Given the description of an element on the screen output the (x, y) to click on. 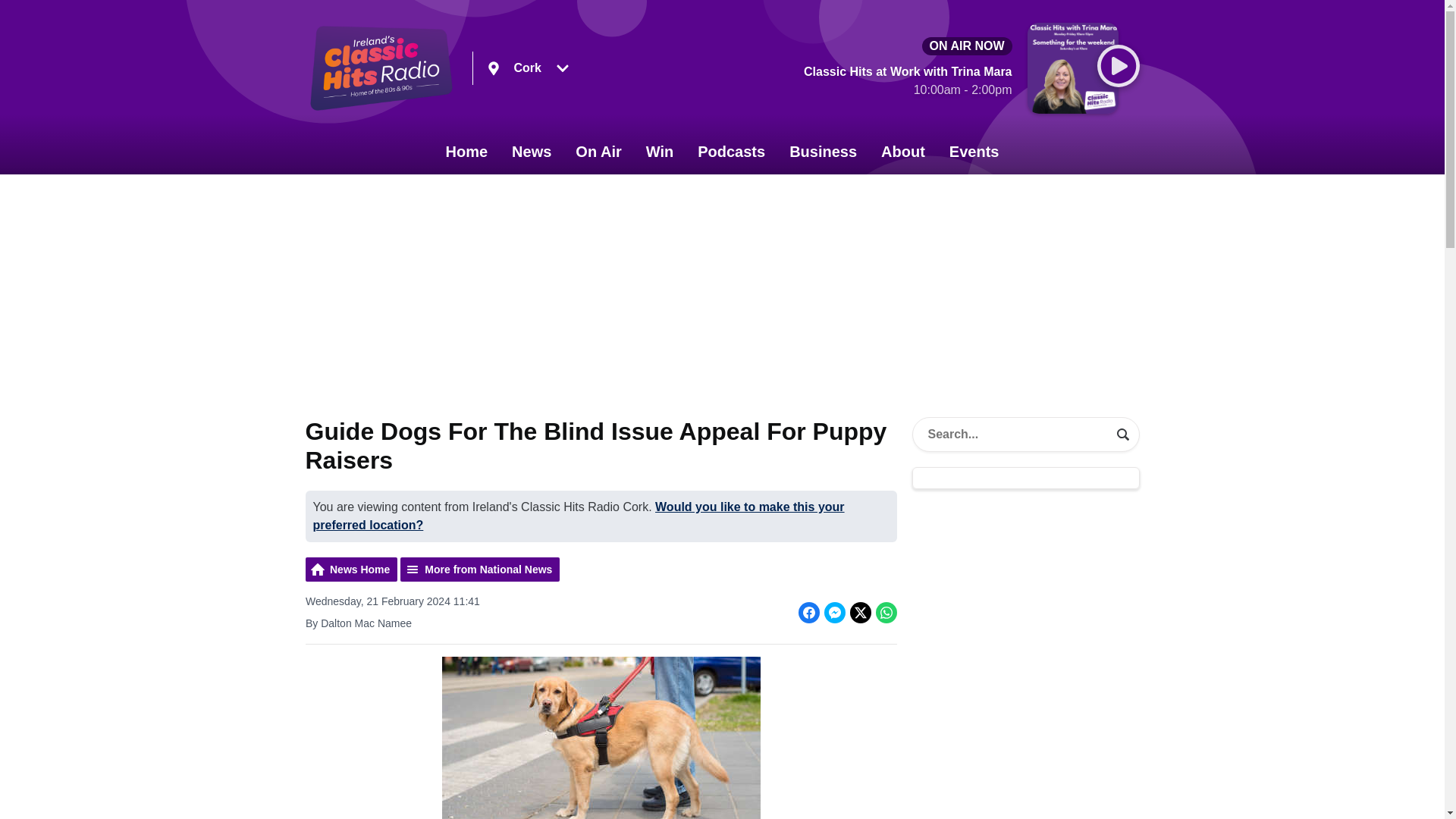
On Air (598, 151)
News (531, 151)
Classic Hits at Work with Trina Mara (907, 83)
Cork (527, 68)
Podcasts (731, 151)
Home (466, 151)
About (903, 151)
Win (659, 151)
Business (823, 151)
